Given the description of an element on the screen output the (x, y) to click on. 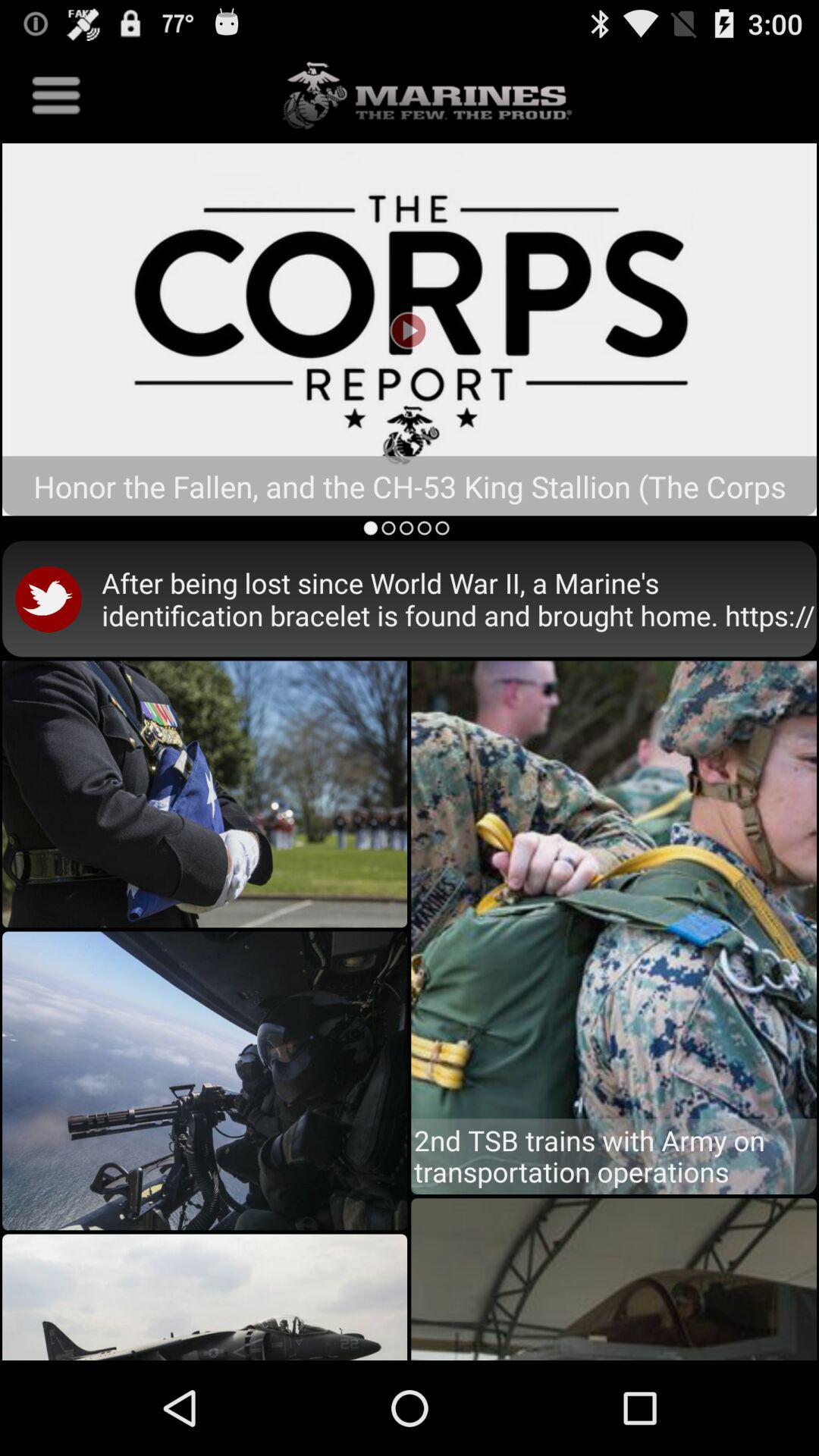
click on the pause icon  (409, 328)
select left corner image from bottom (204, 1286)
click on menu button at top left (56, 95)
click on the image which contains soldier with a green bag (613, 904)
select the icon just before the text after being lost since world war 11 (51, 597)
